Given the description of an element on the screen output the (x, y) to click on. 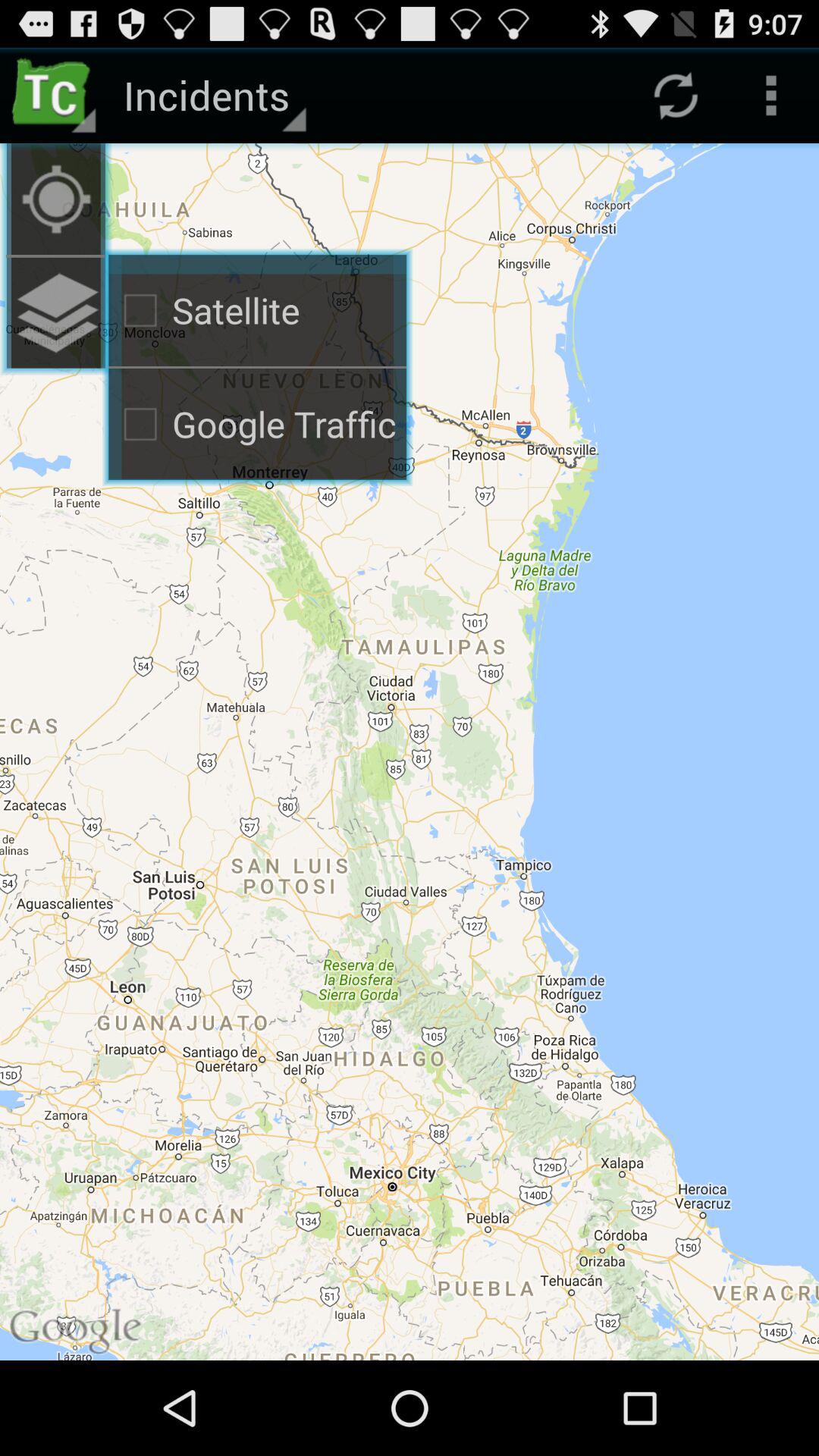
open the icon to the left of satellite (55, 313)
